Given the description of an element on the screen output the (x, y) to click on. 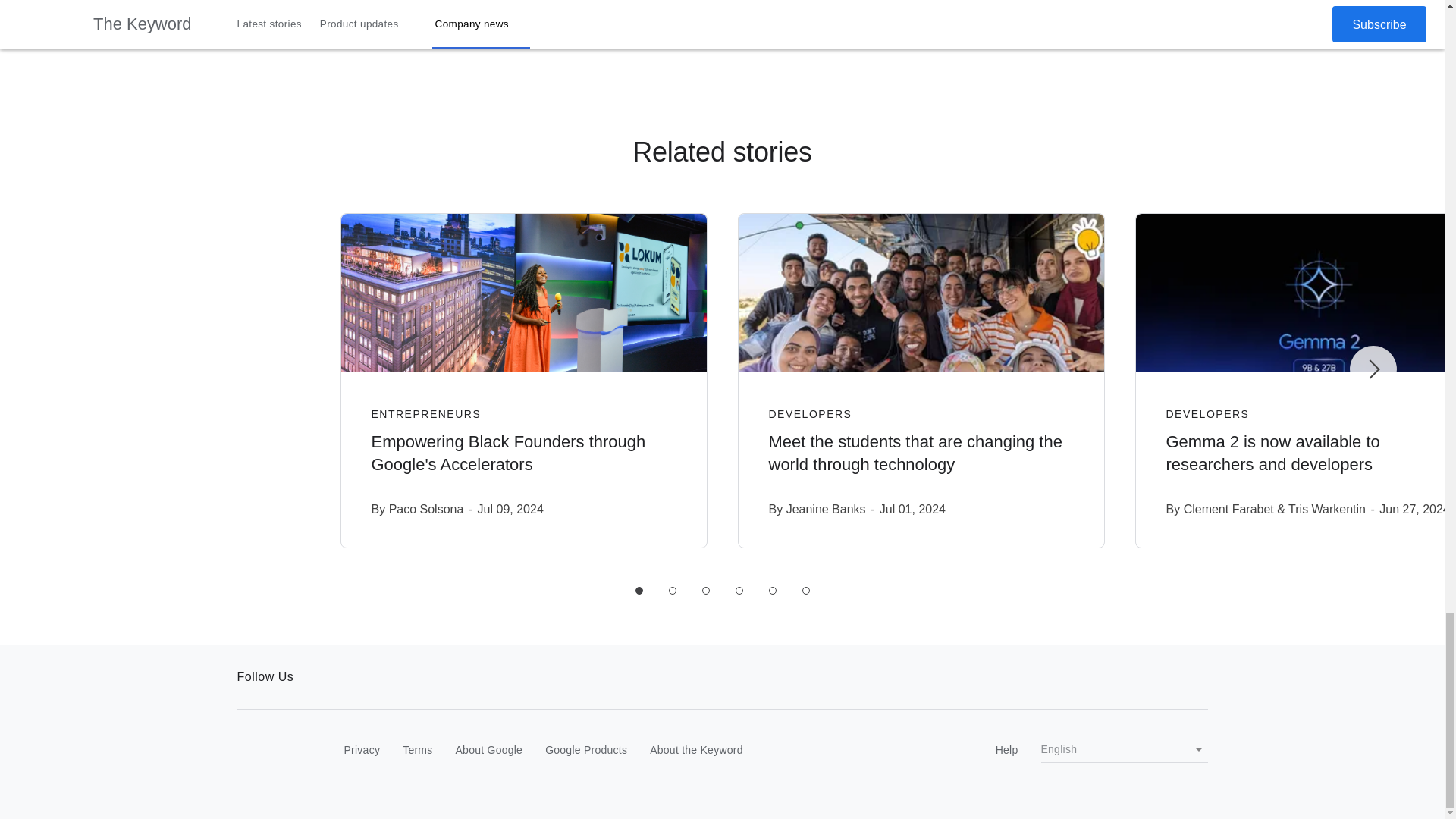
Google (268, 750)
